Given the description of an element on the screen output the (x, y) to click on. 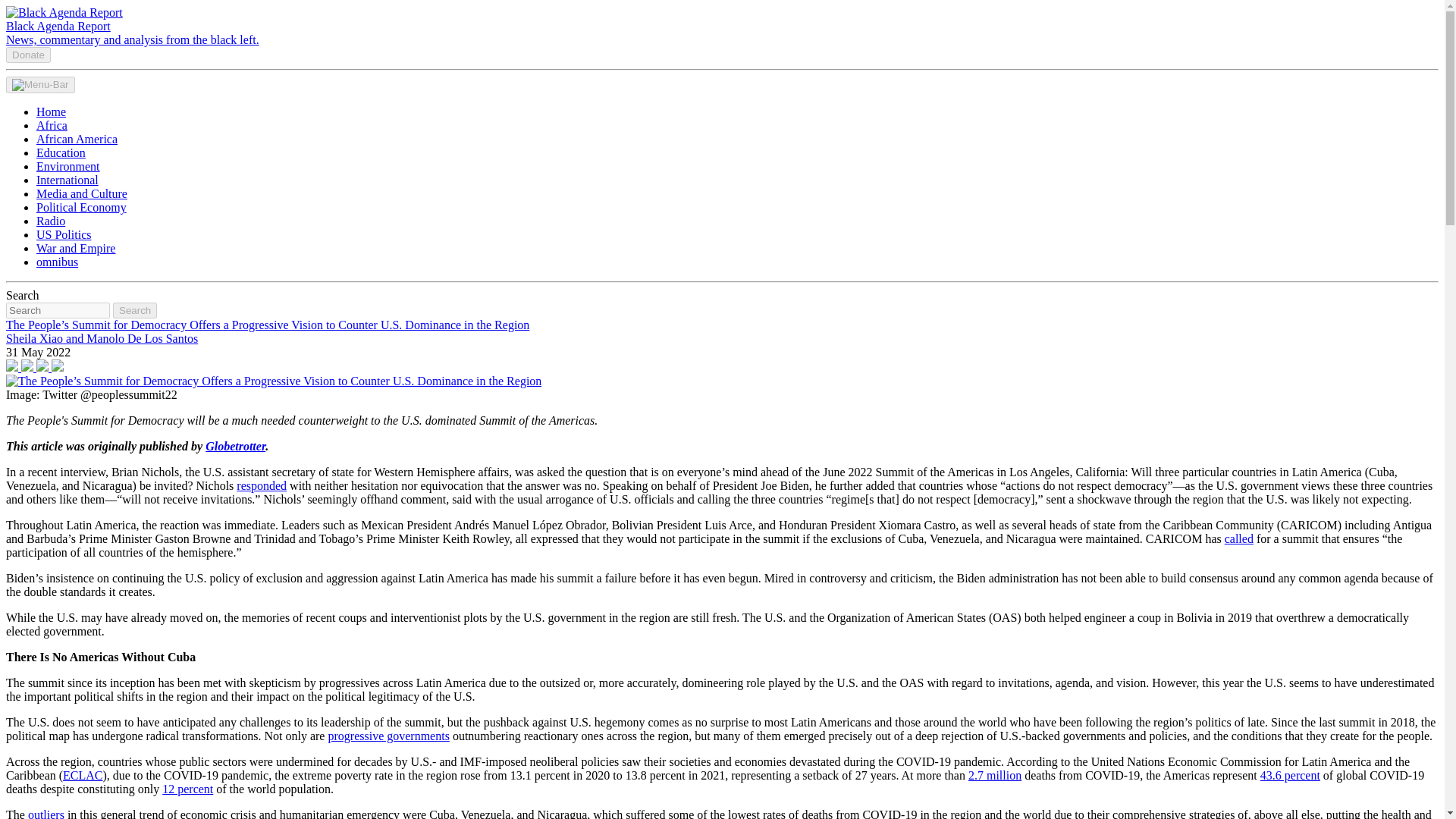
outliers (45, 813)
Environment (68, 165)
Search (135, 310)
Africa (51, 124)
US Politics (63, 234)
Sheila Xiao and Manolo De Los Santos (101, 338)
Globetrotter (234, 445)
Media and Culture (82, 193)
Political Economy (81, 206)
omnibus (57, 261)
Education (60, 152)
12 percent (186, 788)
ECLAC (81, 775)
Donate (27, 53)
Home (50, 111)
